Given the description of an element on the screen output the (x, y) to click on. 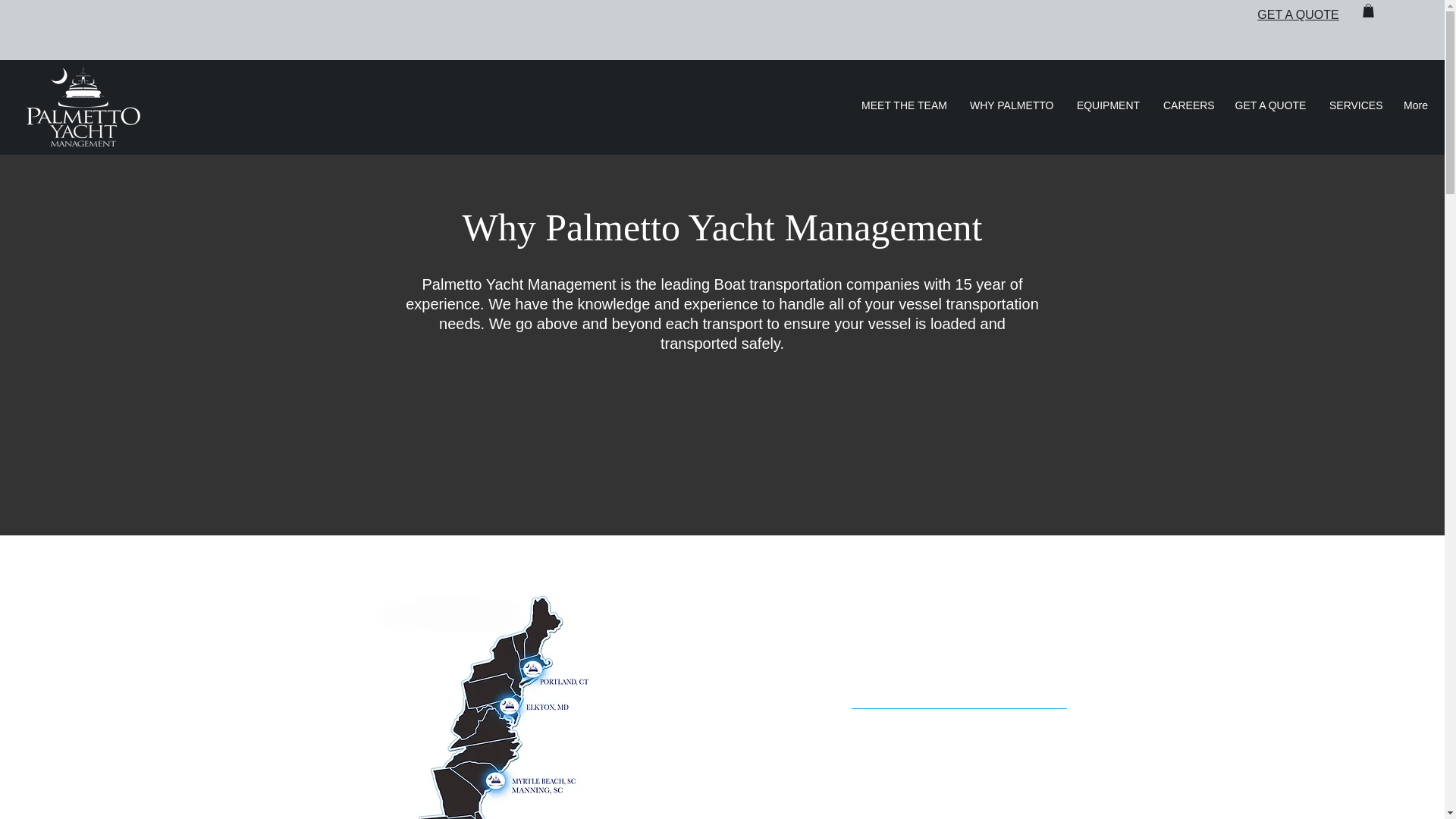
GET A QUOTE (1270, 105)
half wreath.png (82, 106)
SERVICES (1353, 105)
WHY PALMETTO (1011, 105)
GET A QUOTE (1297, 14)
CAREERS (1187, 105)
MEET THE TEAM (904, 105)
EQUIPMENT (1107, 105)
